Given the description of an element on the screen output the (x, y) to click on. 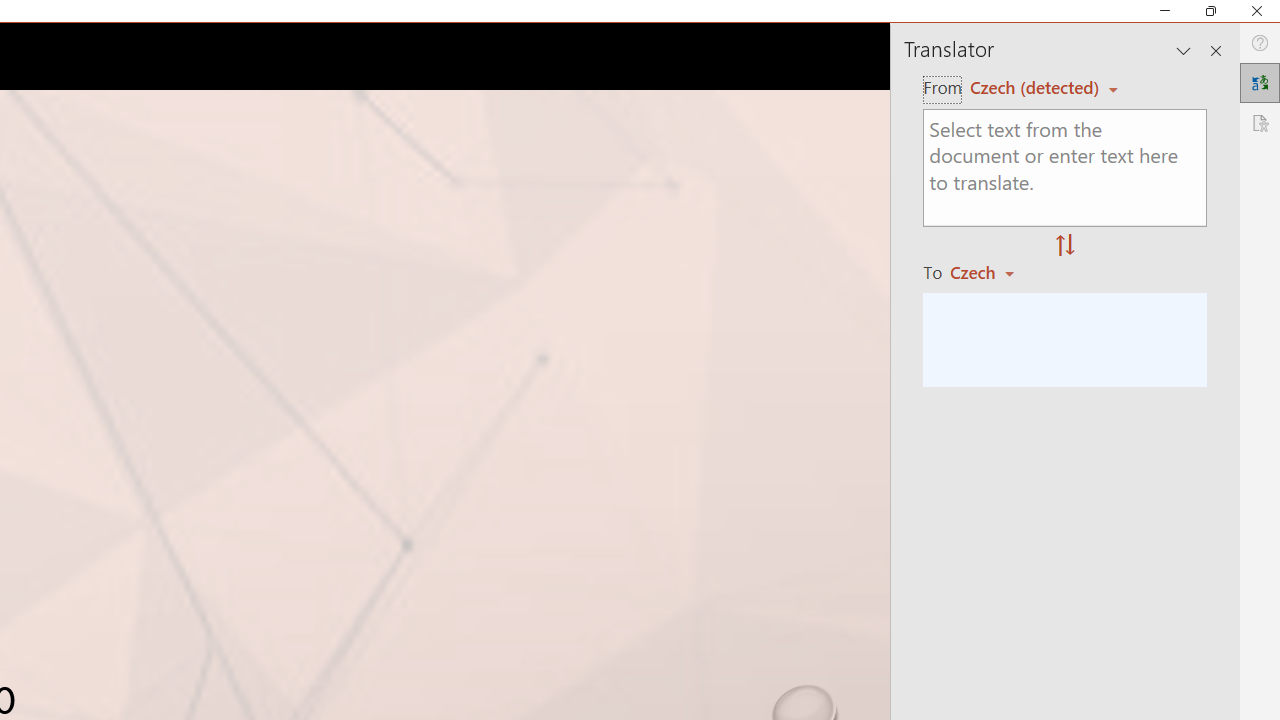
Czech (991, 272)
